Given the description of an element on the screen output the (x, y) to click on. 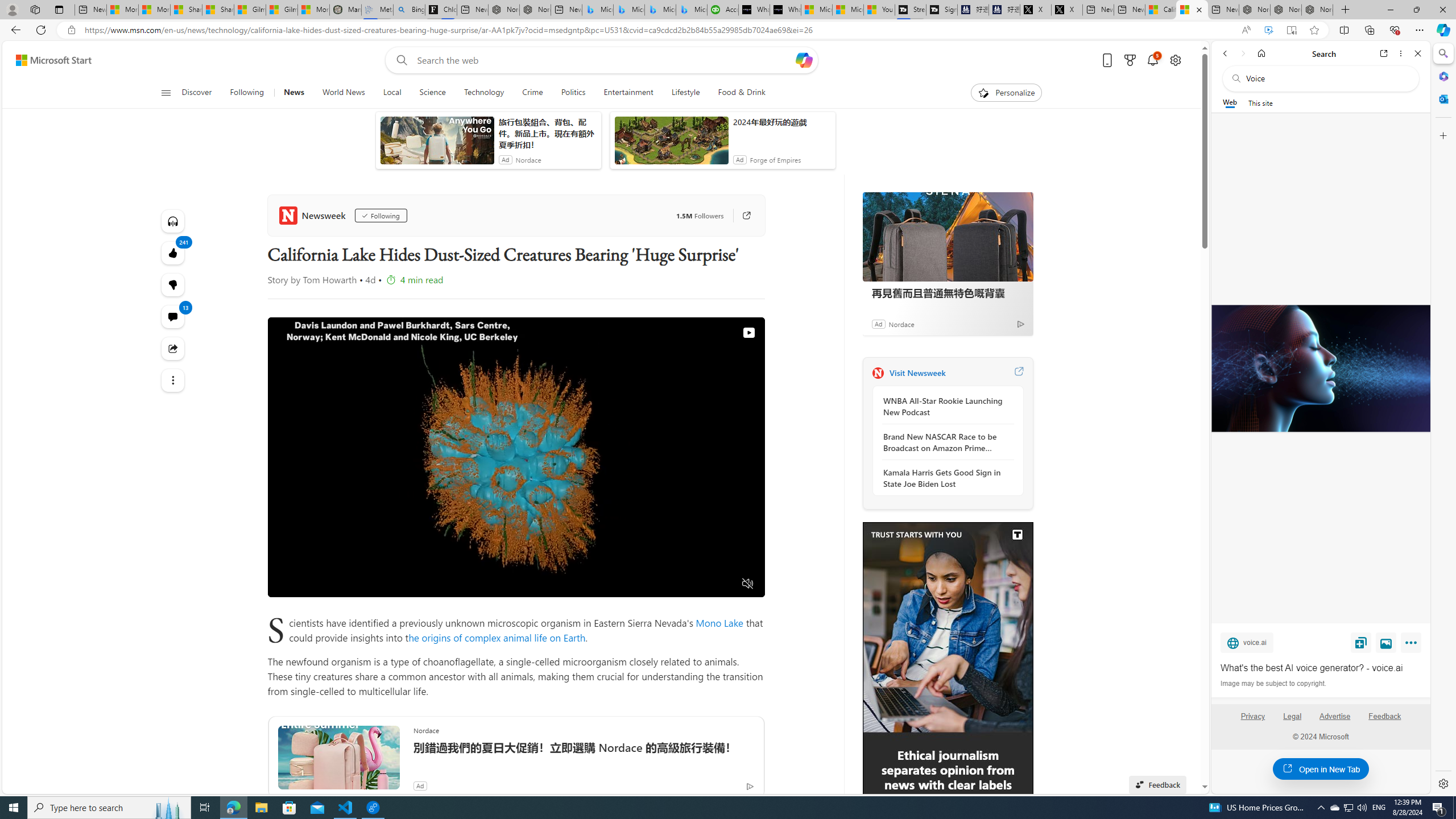
Nordace - Best Sellers (1254, 9)
Fullscreen (726, 583)
Listen to this article (172, 220)
voice.ai (1247, 642)
Nordace - #1 Japanese Best-Seller - Siena Smart Backpack (535, 9)
Chloe Sorvino (440, 9)
Microsoft 365 (1442, 76)
Entertainment (628, 92)
Web scope (1230, 102)
Microsoft Start Sports (816, 9)
Advertise (1334, 720)
Personal Profile (12, 9)
News (293, 92)
Brand New NASCAR Race to be Broadcast on Amazon Prime Video (944, 441)
